Given the description of an element on the screen output the (x, y) to click on. 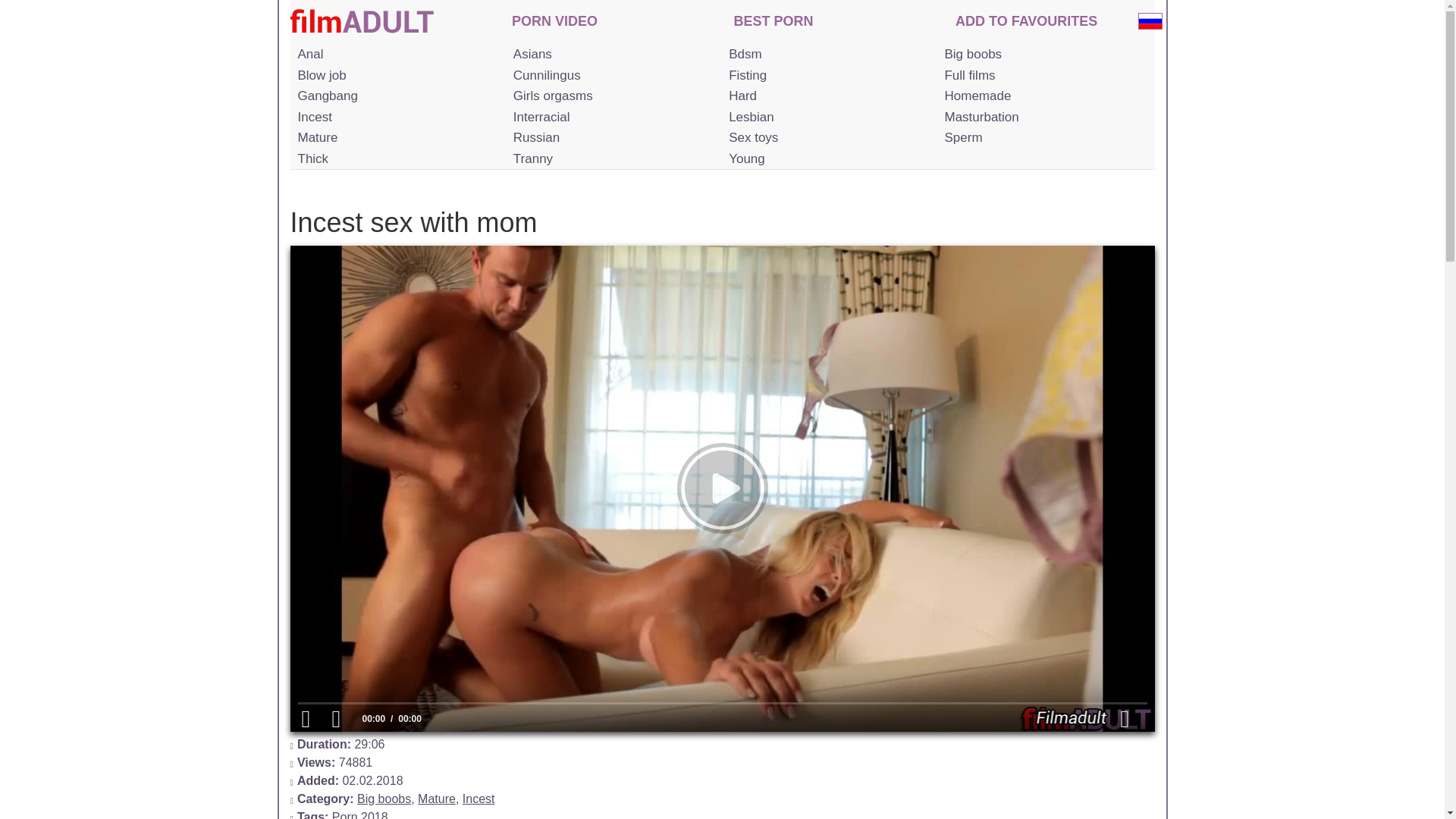
Cunnilingus porn. Cooney (611, 75)
PORN VIDEO (554, 22)
Cunnilingus (611, 75)
Porn with group sex and orgies (395, 96)
Incest (395, 116)
Russian (611, 137)
Watch porn videos online for free (554, 22)
Lesbian (826, 116)
Fisting (826, 75)
Young (826, 158)
